Given the description of an element on the screen output the (x, y) to click on. 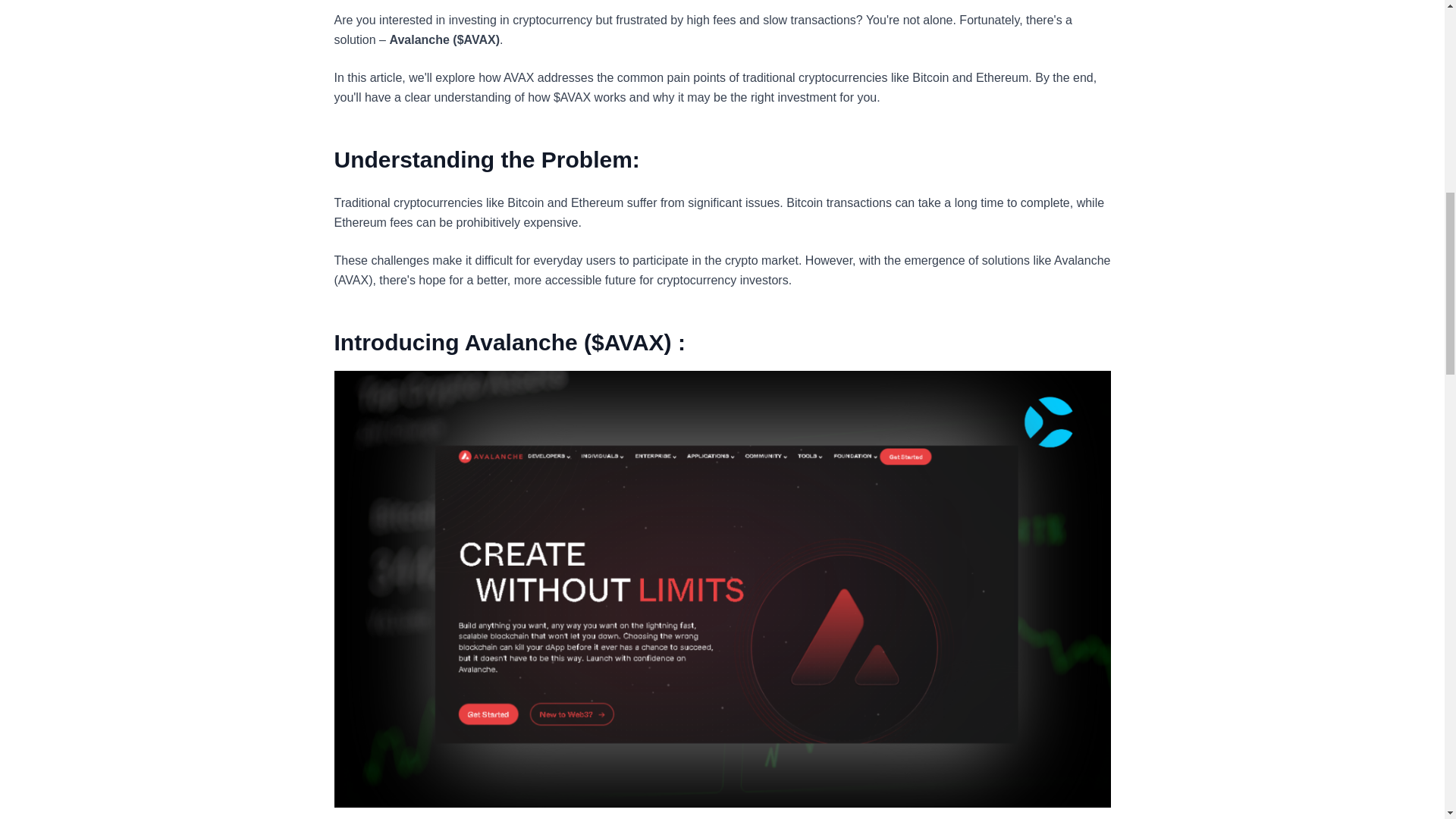
Bitcoin transactions (838, 202)
Bitcoin and Ethereum (969, 77)
Ethereum fees (372, 222)
